Given the description of an element on the screen output the (x, y) to click on. 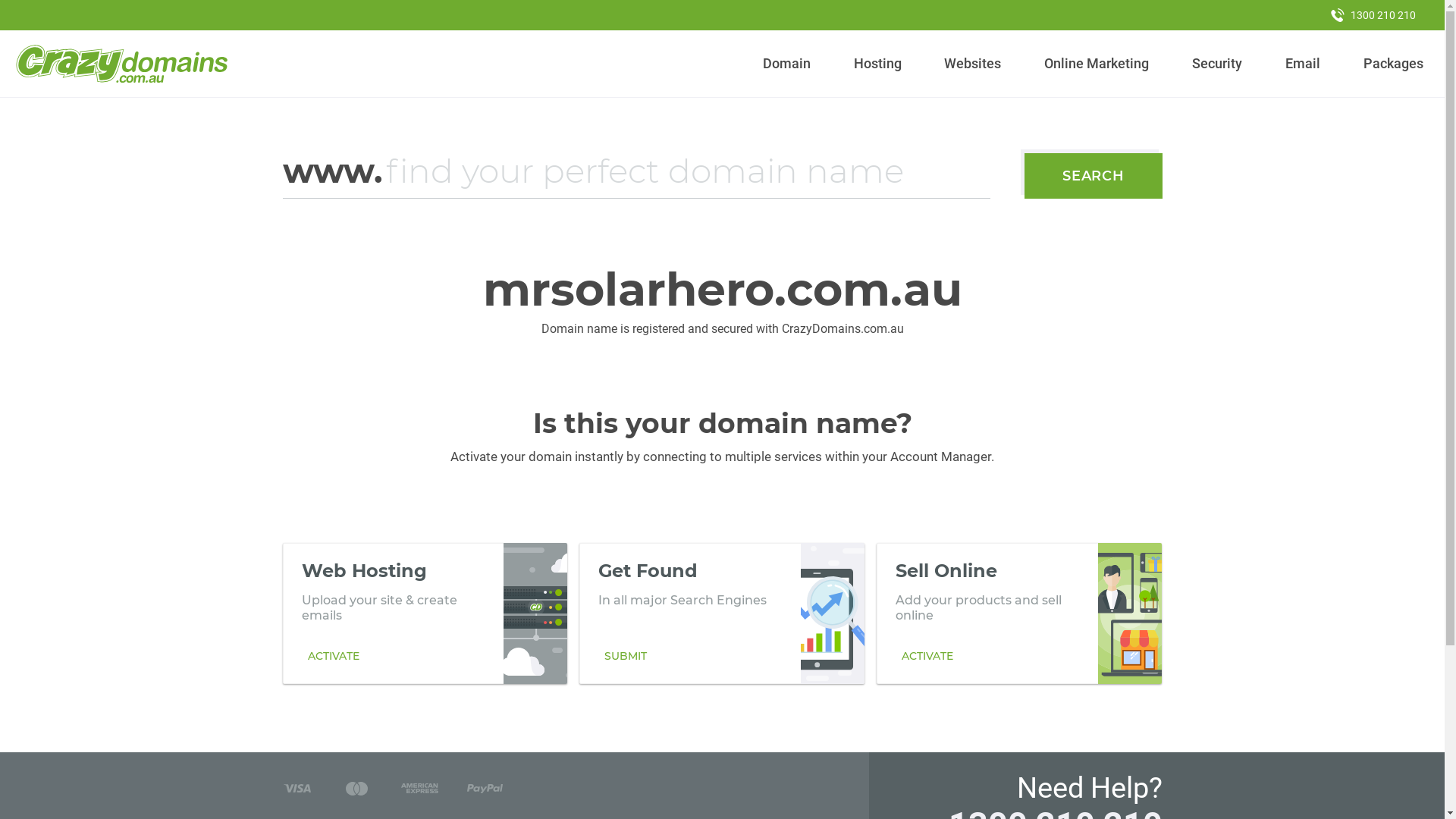
SEARCH Element type: text (1092, 175)
Online Marketing Element type: text (1096, 63)
Get Found
In all major Search Engines
SUBMIT Element type: text (721, 613)
Hosting Element type: text (877, 63)
1300 210 210 Element type: text (1373, 15)
Domain Element type: text (786, 63)
Packages Element type: text (1392, 63)
Websites Element type: text (972, 63)
Security Element type: text (1217, 63)
Email Element type: text (1302, 63)
Sell Online
Add your products and sell online
ACTIVATE Element type: text (1018, 613)
Web Hosting
Upload your site & create emails
ACTIVATE Element type: text (424, 613)
